Given the description of an element on the screen output the (x, y) to click on. 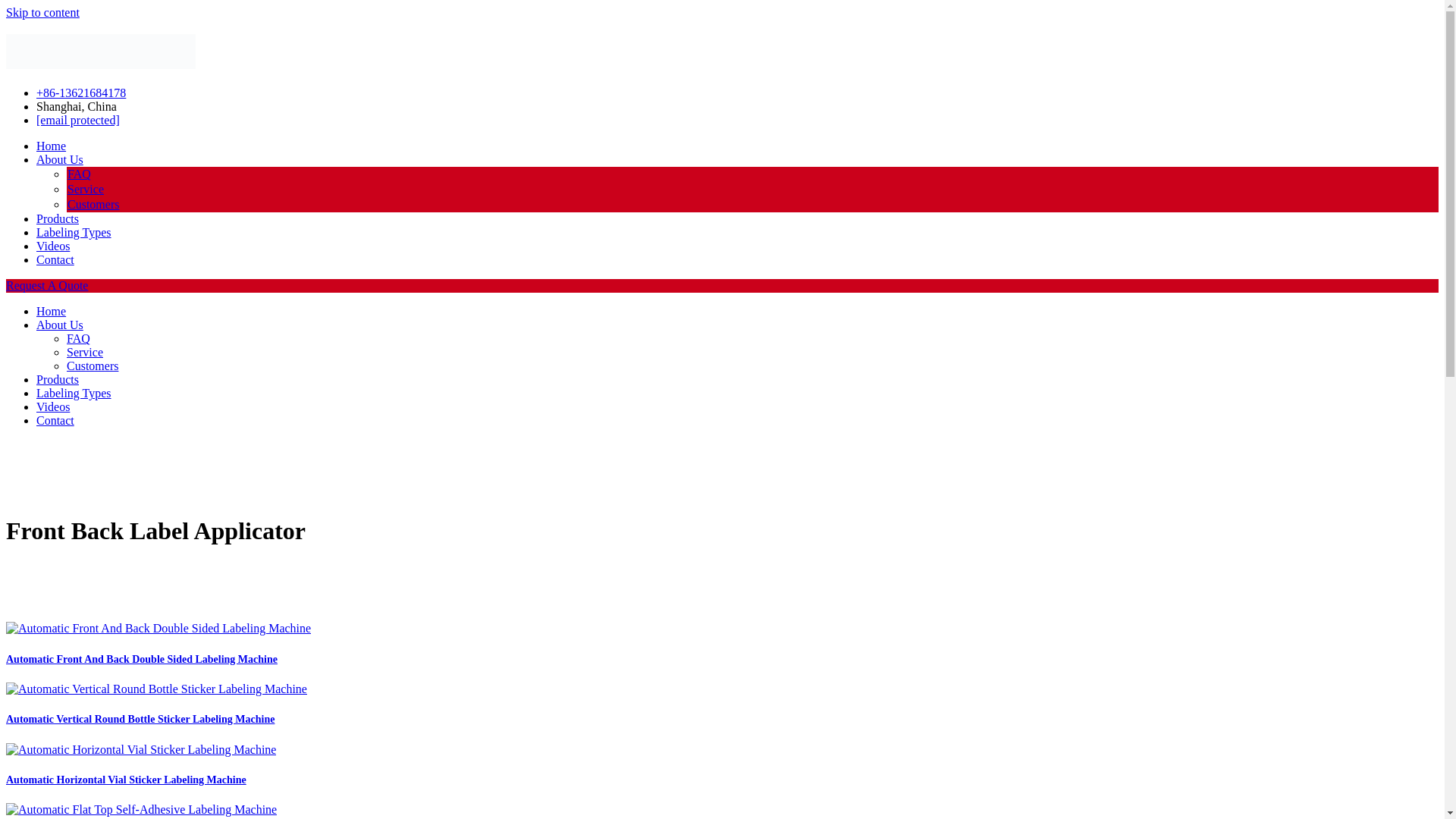
Products (57, 379)
Products (57, 218)
Service (84, 188)
Contact (55, 420)
FAQ (78, 338)
Customers (92, 204)
About Us (59, 159)
Automatic Front And Back Double Sided Labeling Machine (141, 659)
Service (84, 351)
Videos (52, 406)
